Given the description of an element on the screen output the (x, y) to click on. 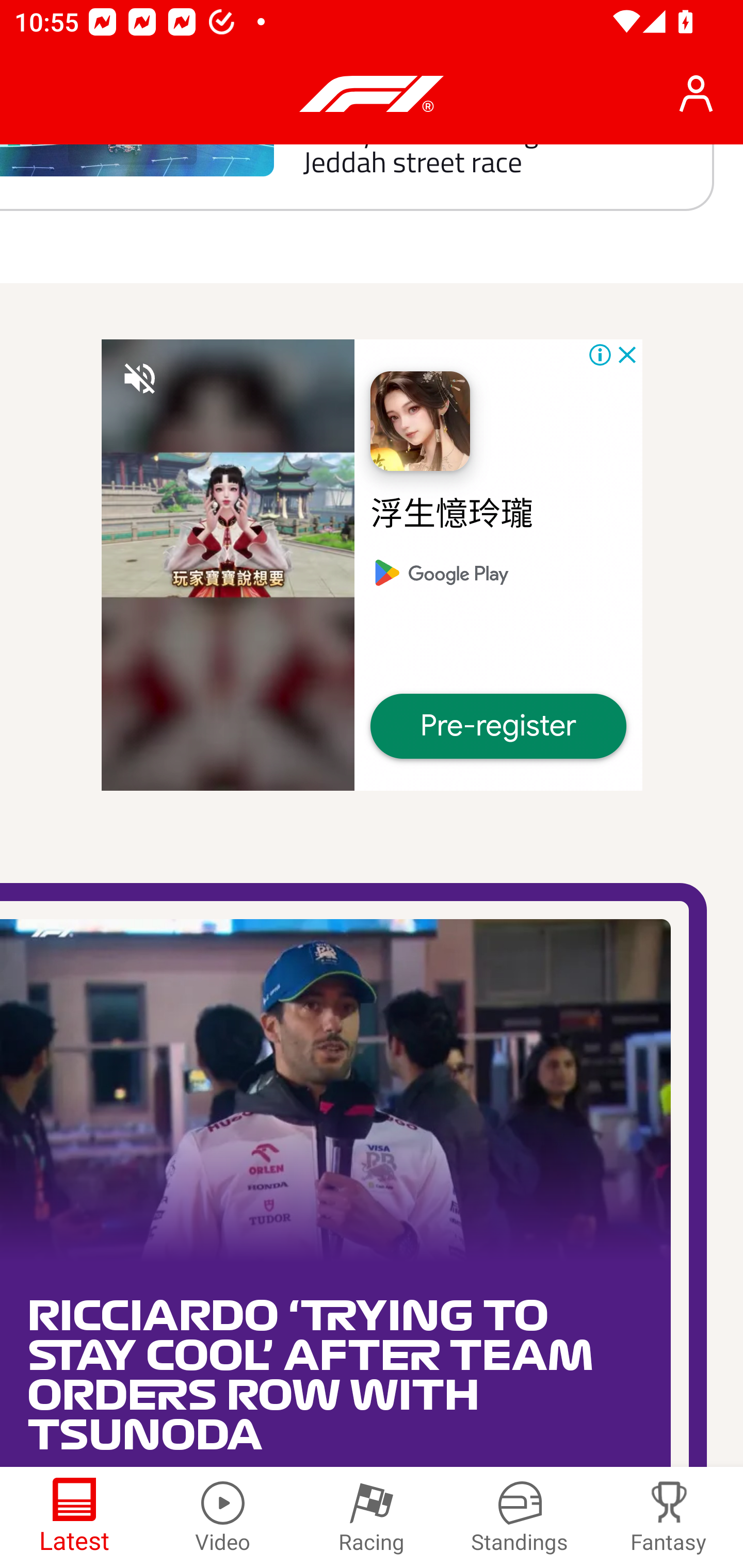
Pre-register (498, 726)
Video (222, 1517)
Racing (371, 1517)
Standings (519, 1517)
Fantasy (668, 1517)
